Given the description of an element on the screen output the (x, y) to click on. 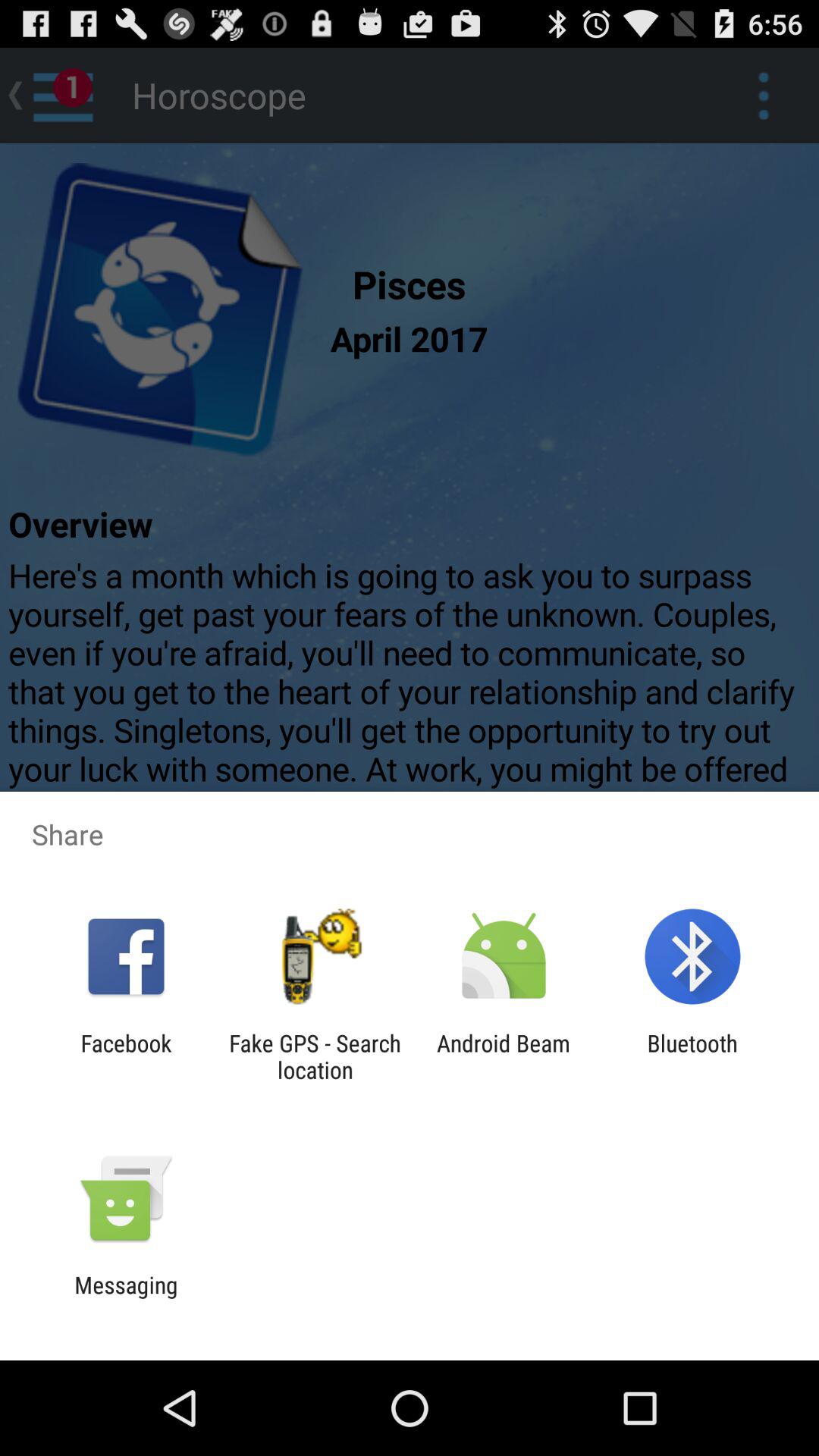
tap the icon next to the fake gps search (125, 1056)
